Given the description of an element on the screen output the (x, y) to click on. 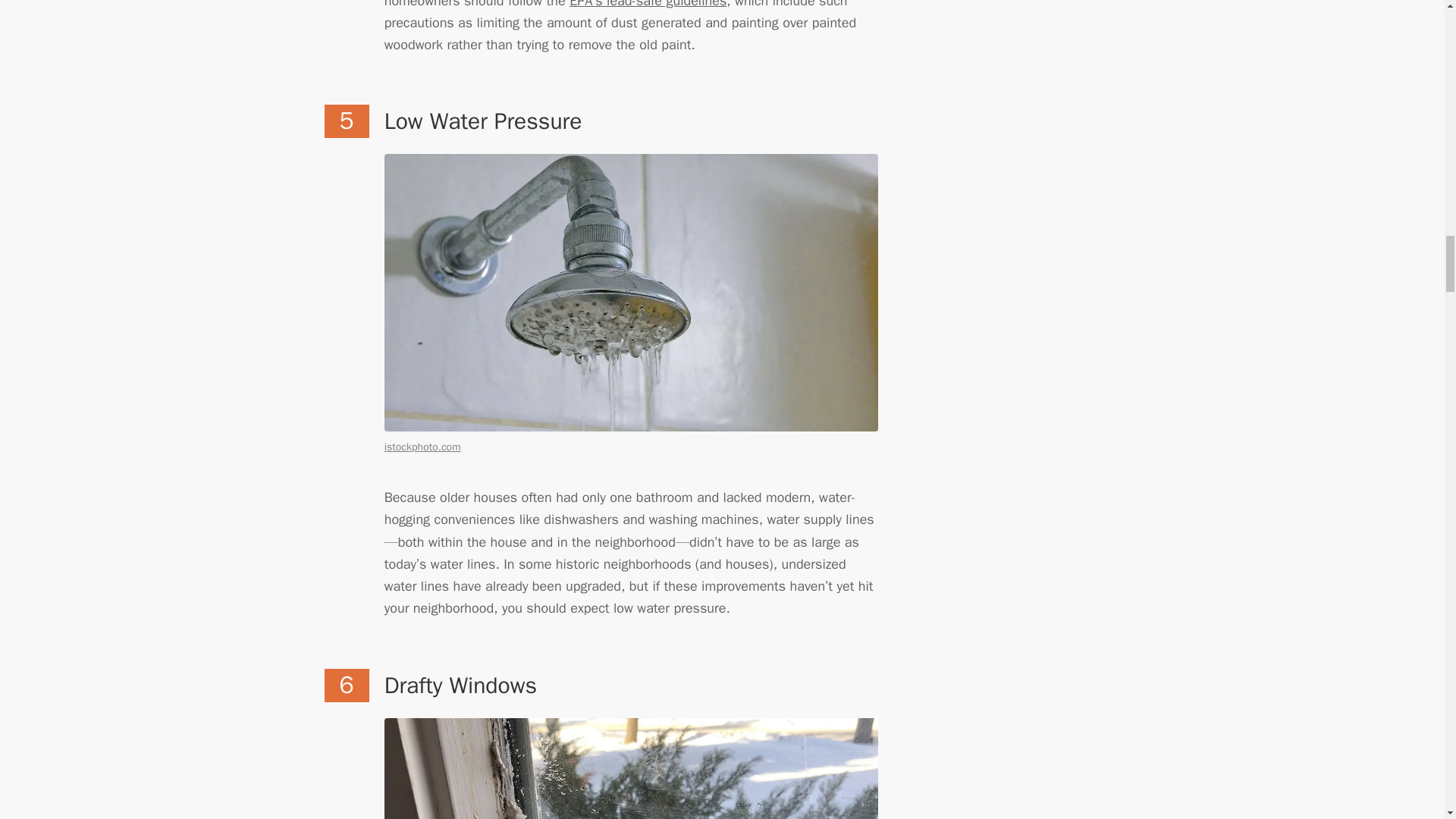
istockphoto.com (422, 446)
